Given the description of an element on the screen output the (x, y) to click on. 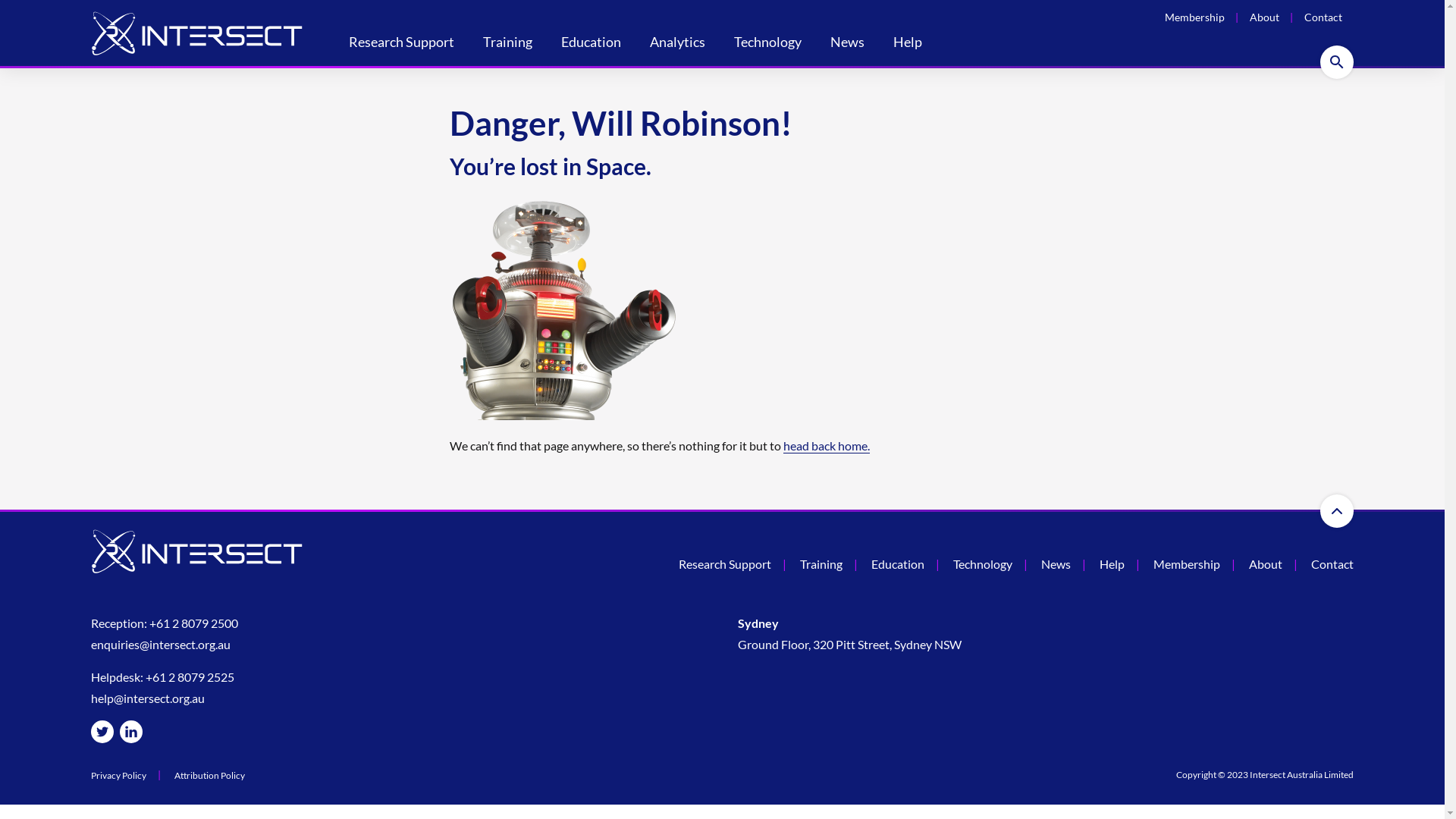
Contact Element type: text (1323, 16)
+61 2 8079 2525 Element type: text (189, 676)
+61 2 8079 2500 Element type: text (193, 622)
News Element type: text (847, 43)
Technology Element type: text (982, 563)
Privacy Policy Element type: text (118, 775)
About Element type: text (1264, 16)
News Element type: text (1055, 563)
Help Element type: text (1111, 563)
Analytics Element type: text (677, 43)
Training Element type: text (507, 43)
head back home. Element type: text (825, 445)
Help Element type: text (907, 43)
Education Element type: text (591, 43)
Membership Element type: text (1194, 16)
help@intersect.org.au Element type: text (147, 698)
About Element type: text (1265, 563)
Attribution Policy Element type: text (209, 775)
Membership Element type: text (1186, 563)
Contact Element type: text (1332, 563)
Research Support Element type: text (401, 43)
Research Support Element type: text (724, 563)
Training Element type: text (821, 563)
Education Element type: text (897, 563)
Technology Element type: text (767, 43)
enquiries@intersect.org.au Element type: text (160, 644)
